Given the description of an element on the screen output the (x, y) to click on. 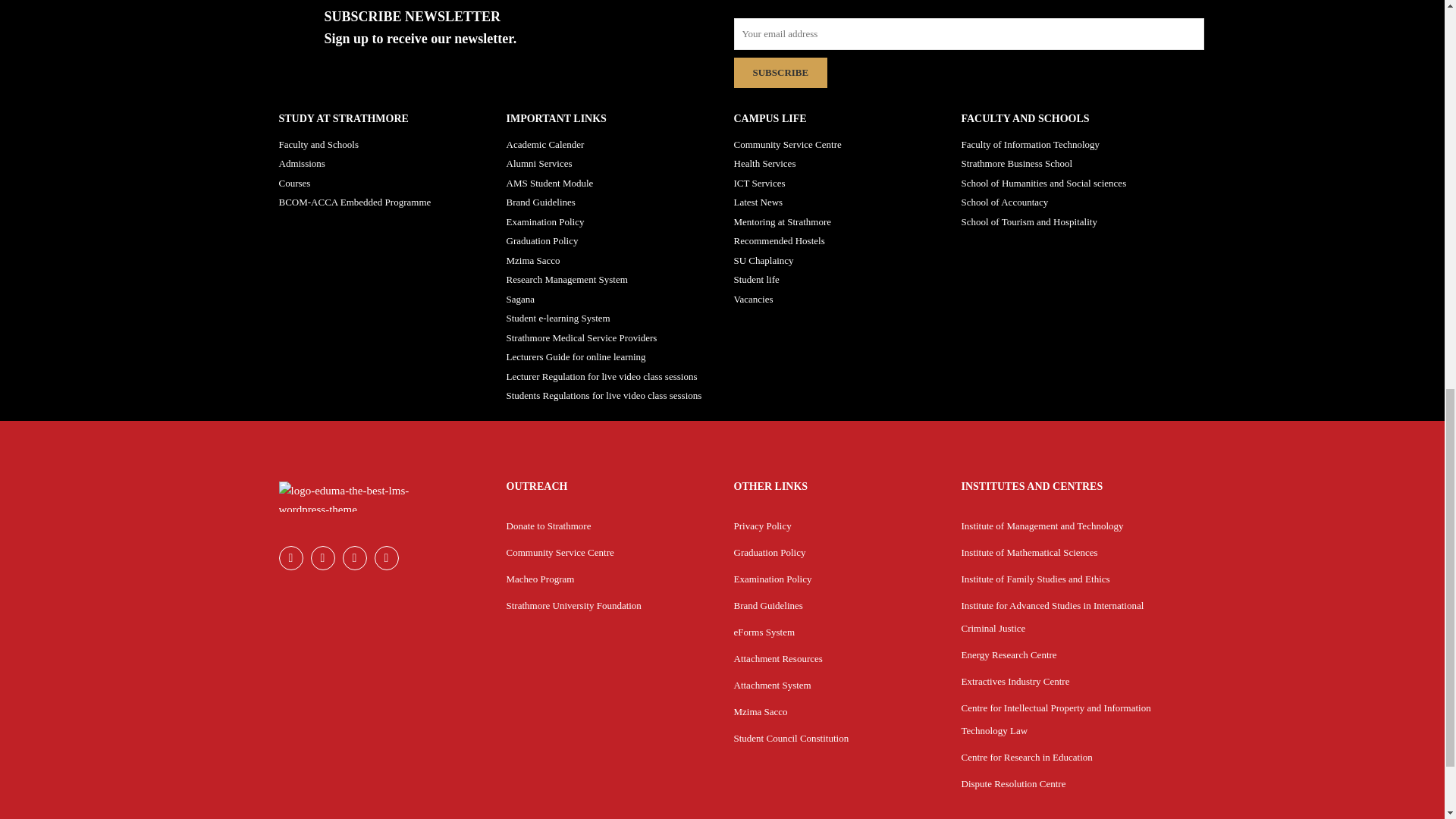
SUBSCRIBE (780, 72)
